Given the description of an element on the screen output the (x, y) to click on. 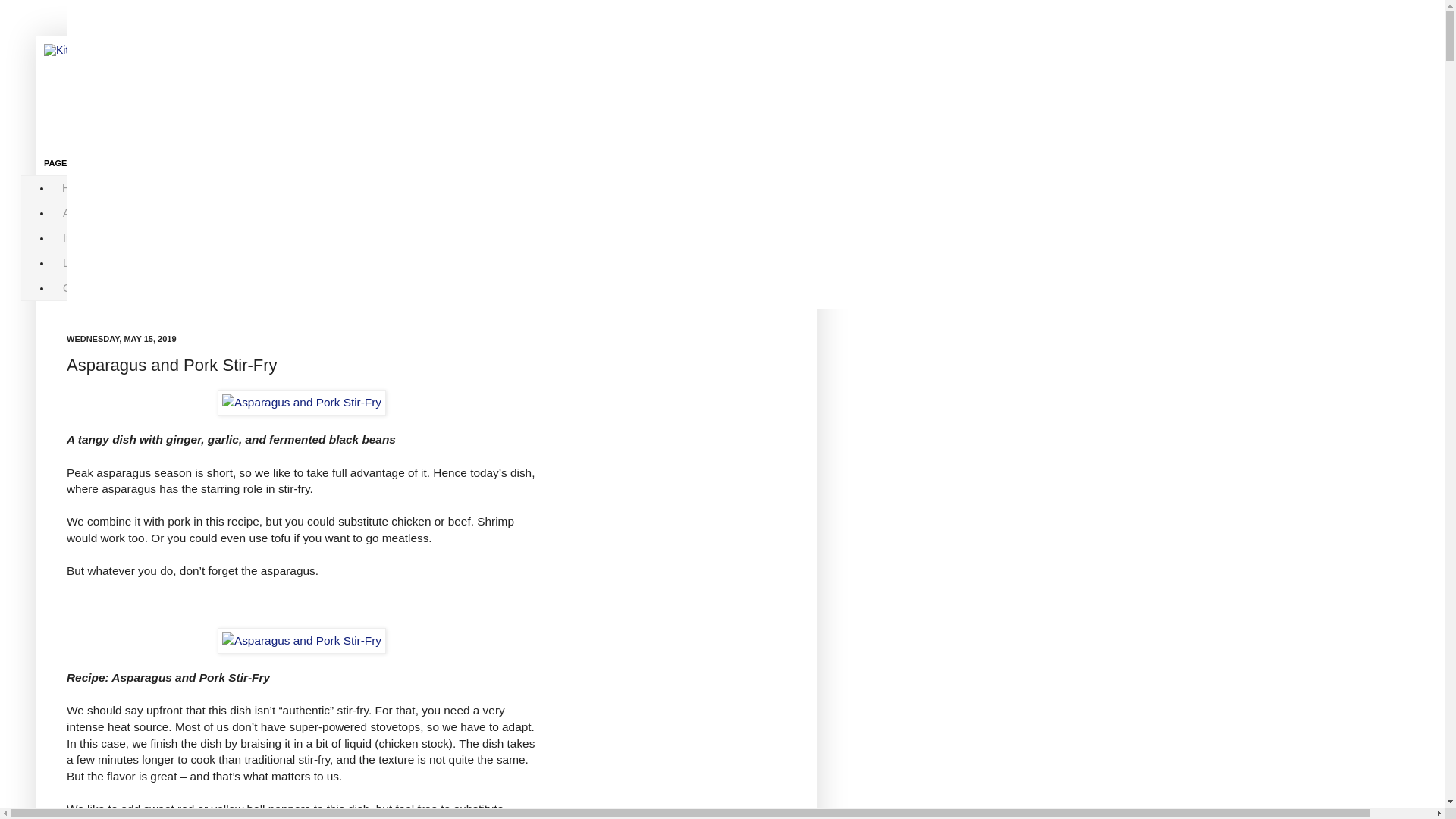
Links (74, 262)
Index (75, 238)
Asparagus and Pork Stir-Fry (300, 402)
Contact (80, 287)
Asparagus and Pork Stir-Fry (300, 640)
About (75, 213)
Home (75, 188)
